Given the description of an element on the screen output the (x, y) to click on. 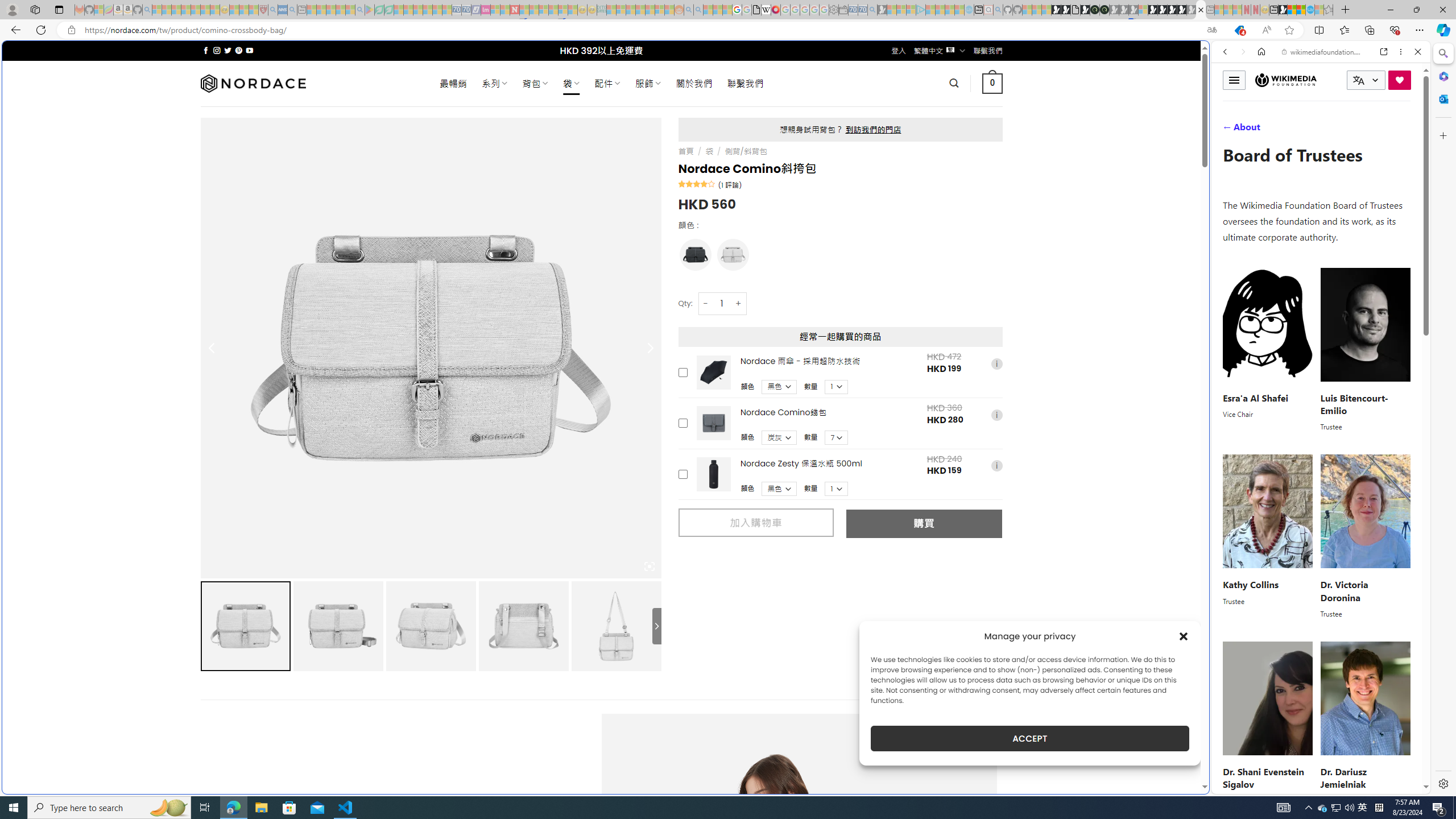
Class: cmplz-close (1183, 636)
Future Focus Report 2024 (1103, 9)
  0   (992, 83)
